Given the description of an element on the screen output the (x, y) to click on. 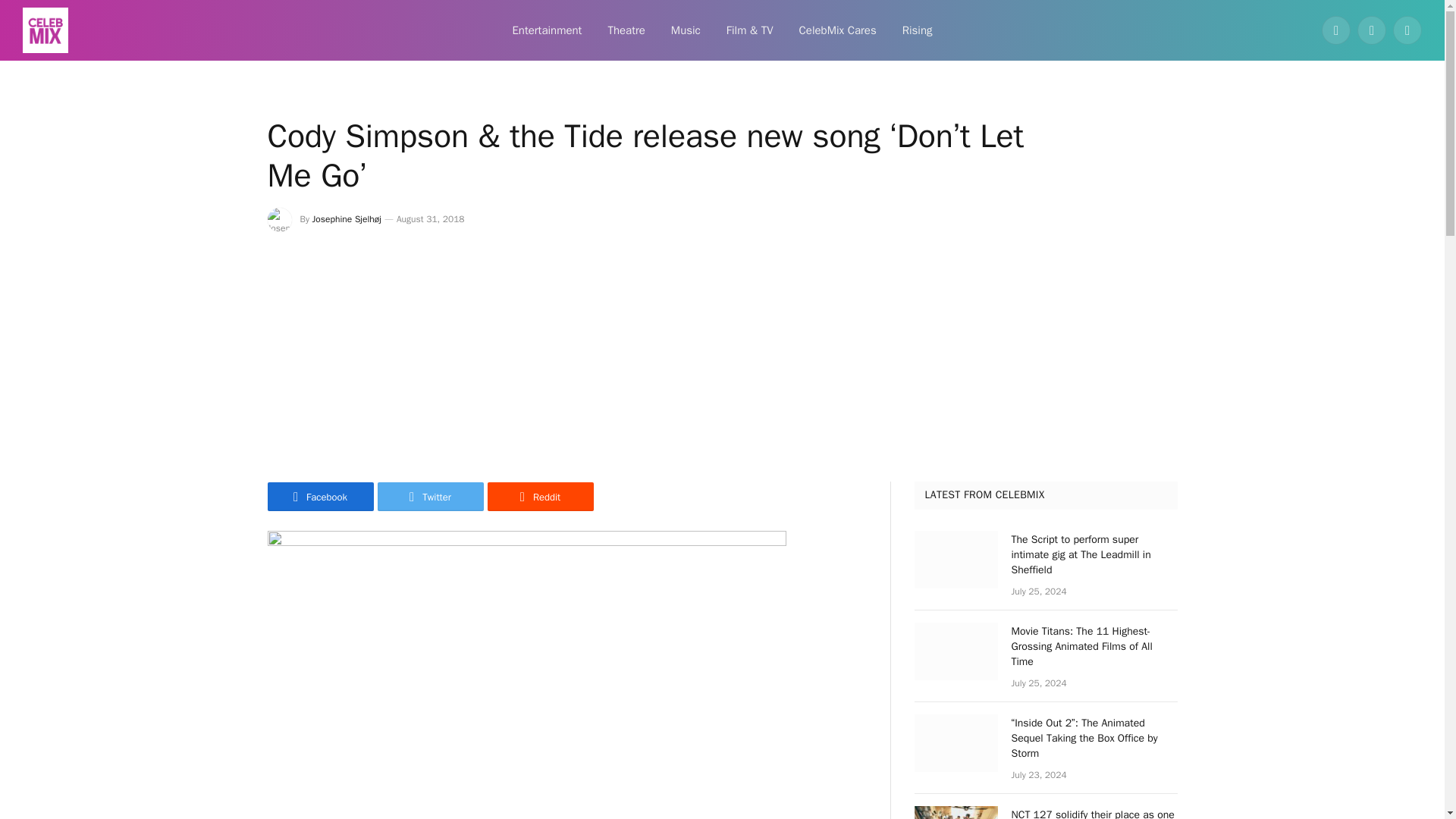
Facebook (1336, 30)
Reddit (539, 496)
Share on Reddit (539, 496)
Theatre (626, 30)
Twitter (430, 496)
Instagram (1407, 30)
Music (685, 30)
Entertainment (546, 30)
Share on Facebook (319, 496)
Rising (916, 30)
CelebMix Cares (837, 30)
Facebook (319, 496)
